Given the description of an element on the screen output the (x, y) to click on. 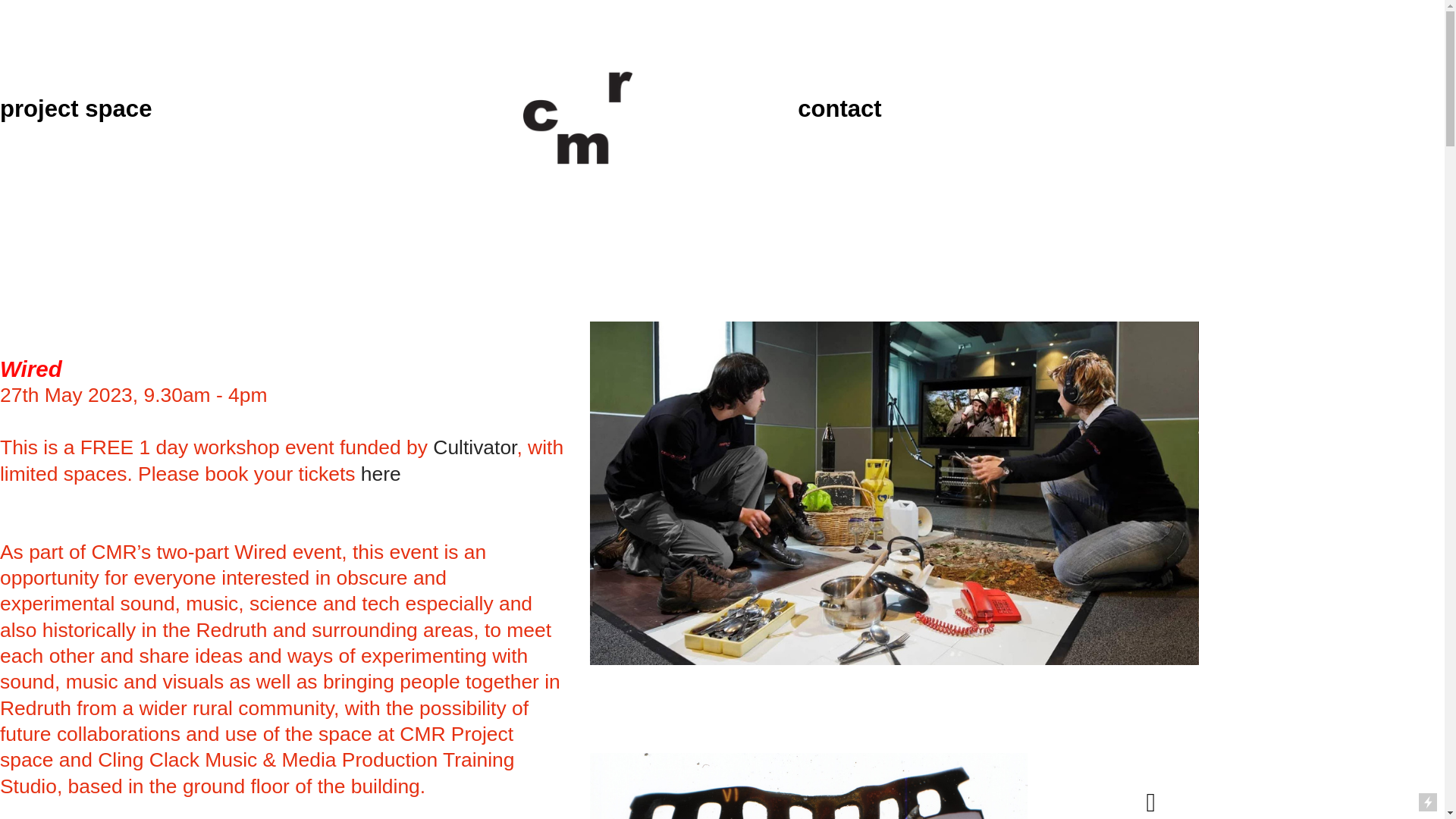
project space (75, 109)
Cultivator (474, 448)
contact (839, 109)
here (381, 474)
